Given the description of an element on the screen output the (x, y) to click on. 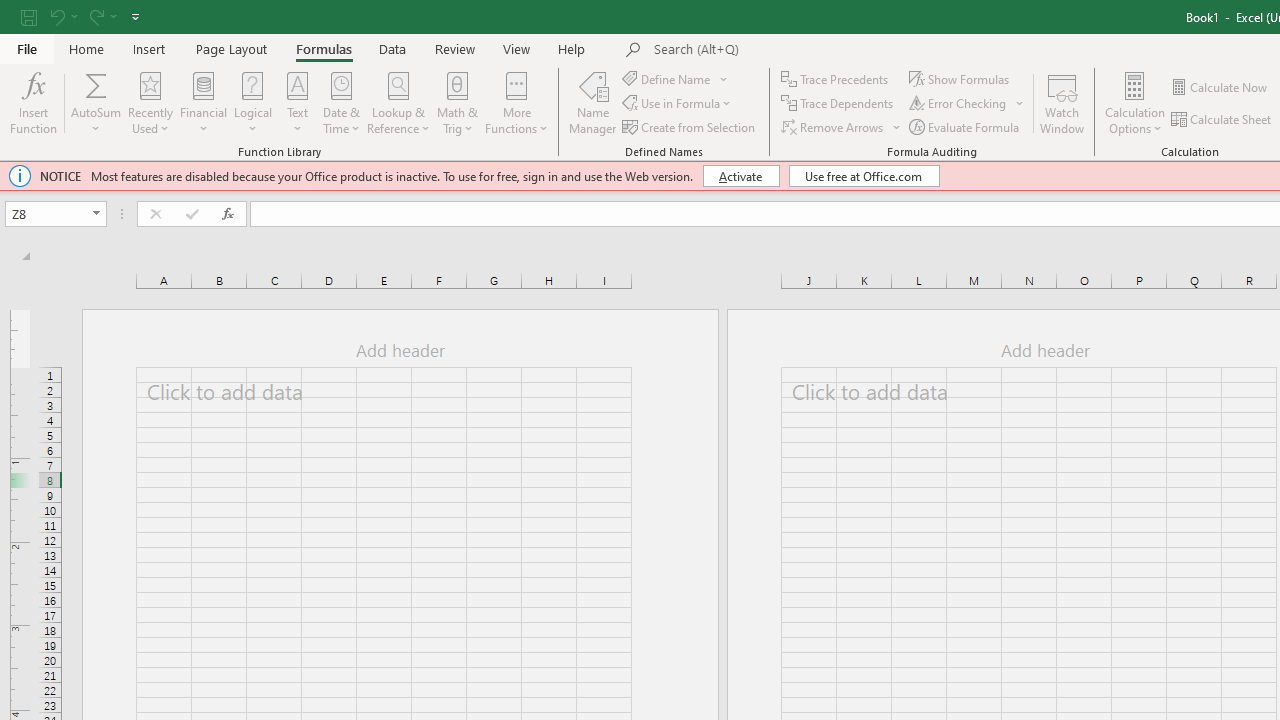
Recently Used (150, 102)
Show Formulas (961, 78)
Remove Arrows (833, 126)
Microsoft search (792, 49)
AutoSum (96, 102)
Remove Arrows (842, 126)
Date & Time (342, 102)
Error Checking... (959, 103)
